Given the description of an element on the screen output the (x, y) to click on. 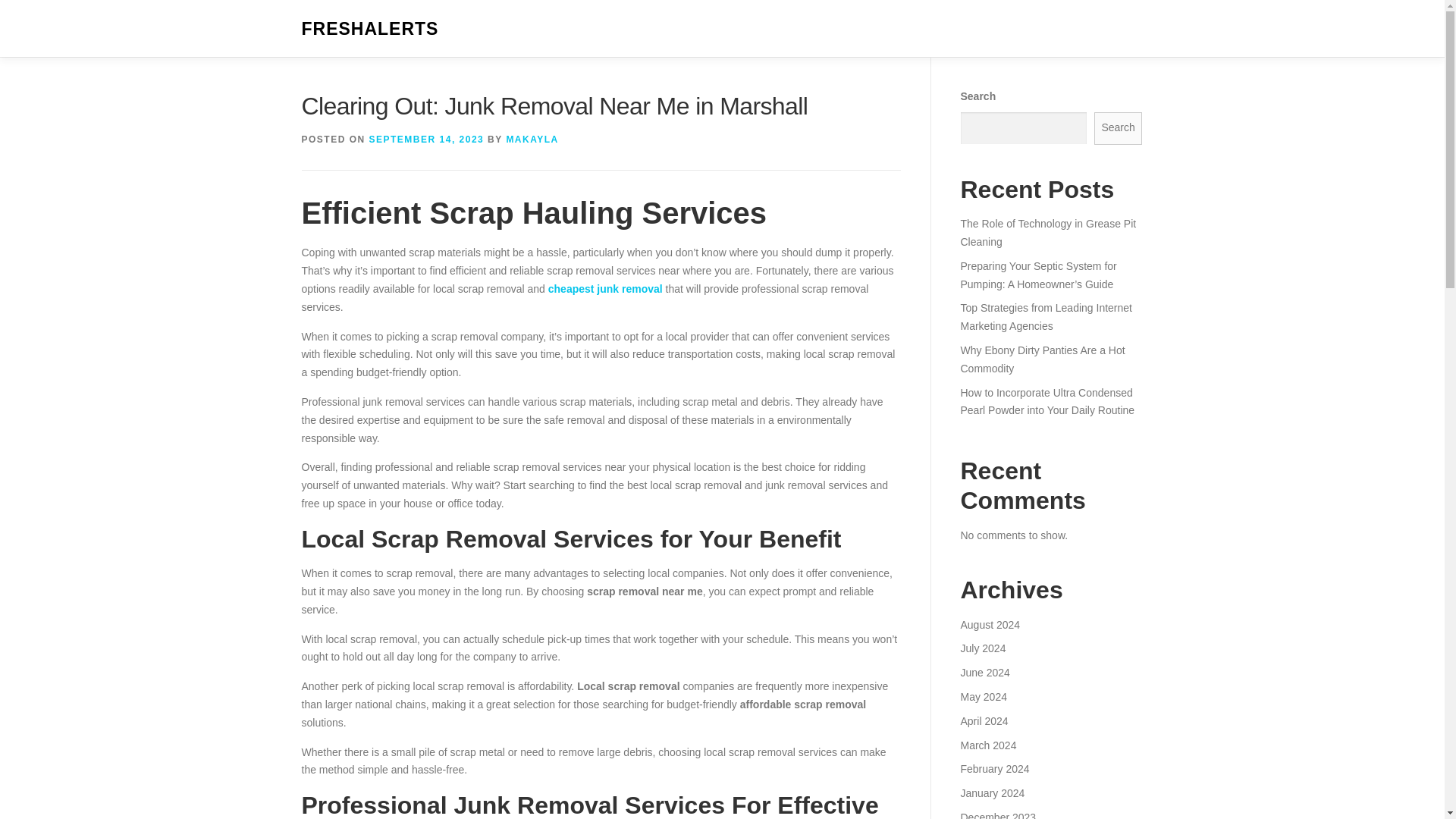
cheapest junk removal (605, 288)
Top Strategies from Leading Internet Marketing Agencies (1045, 317)
August 2024 (989, 624)
June 2024 (984, 672)
SEPTEMBER 14, 2023 (426, 139)
February 2024 (994, 768)
July 2024 (982, 648)
Why Ebony Dirty Panties Are a Hot Commodity (1041, 358)
March 2024 (987, 744)
December 2023 (997, 815)
